Given the description of an element on the screen output the (x, y) to click on. 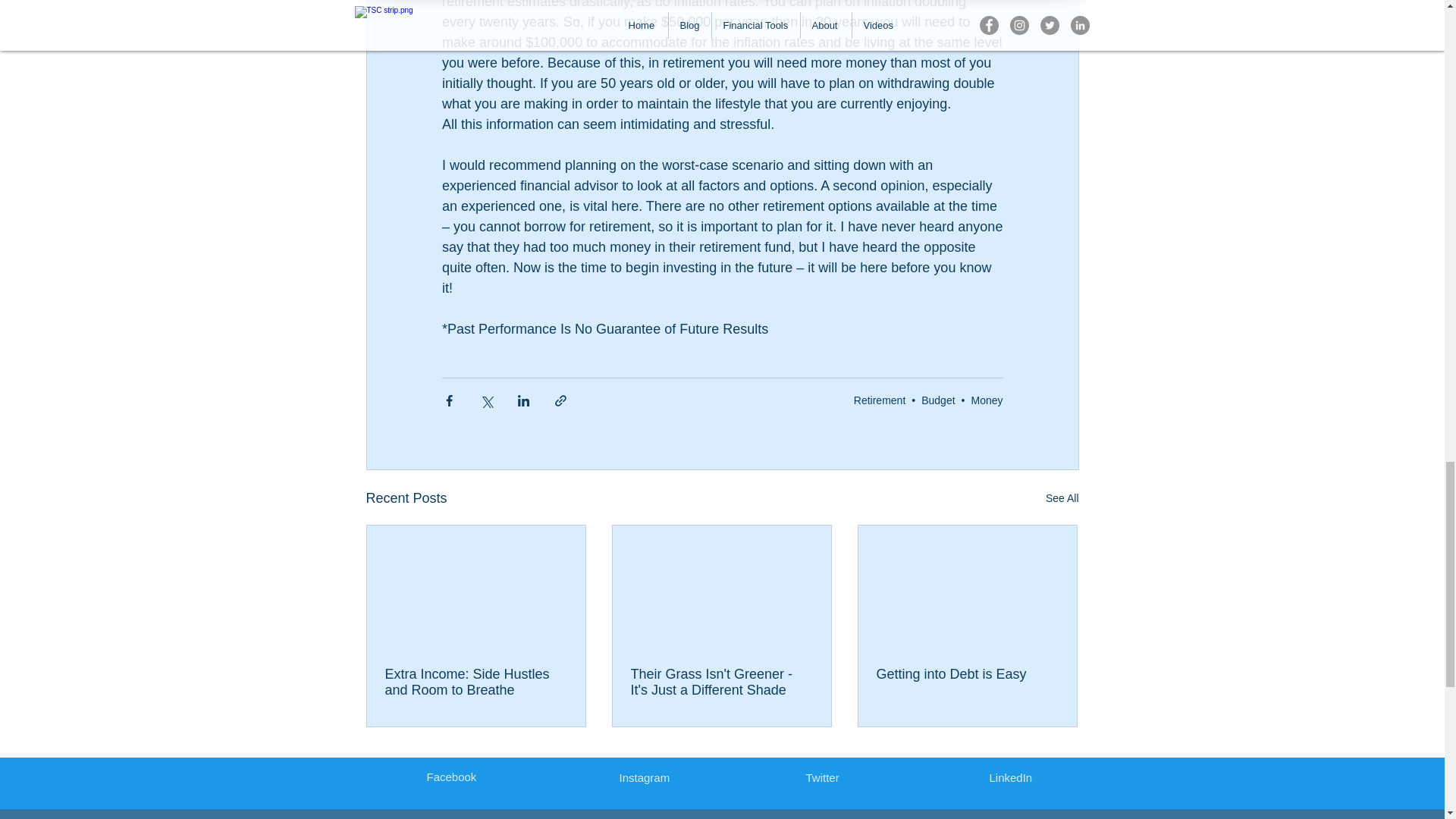
Money (987, 399)
Retirement (879, 399)
Budget (938, 399)
See All (1061, 498)
